Given the description of an element on the screen output the (x, y) to click on. 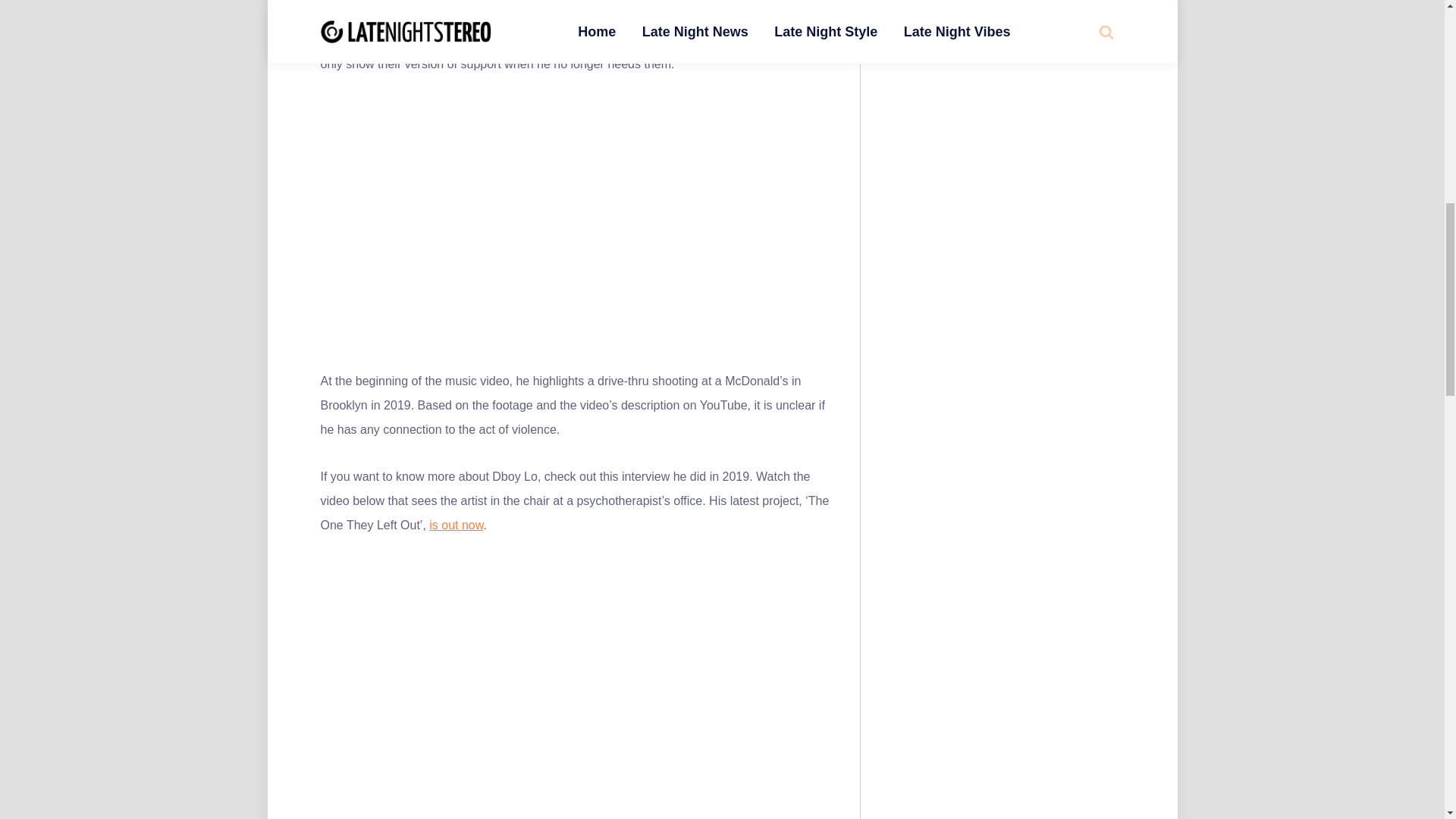
YouTube video player (578, 679)
is out now (456, 524)
YouTube video player (578, 218)
